Given the description of an element on the screen output the (x, y) to click on. 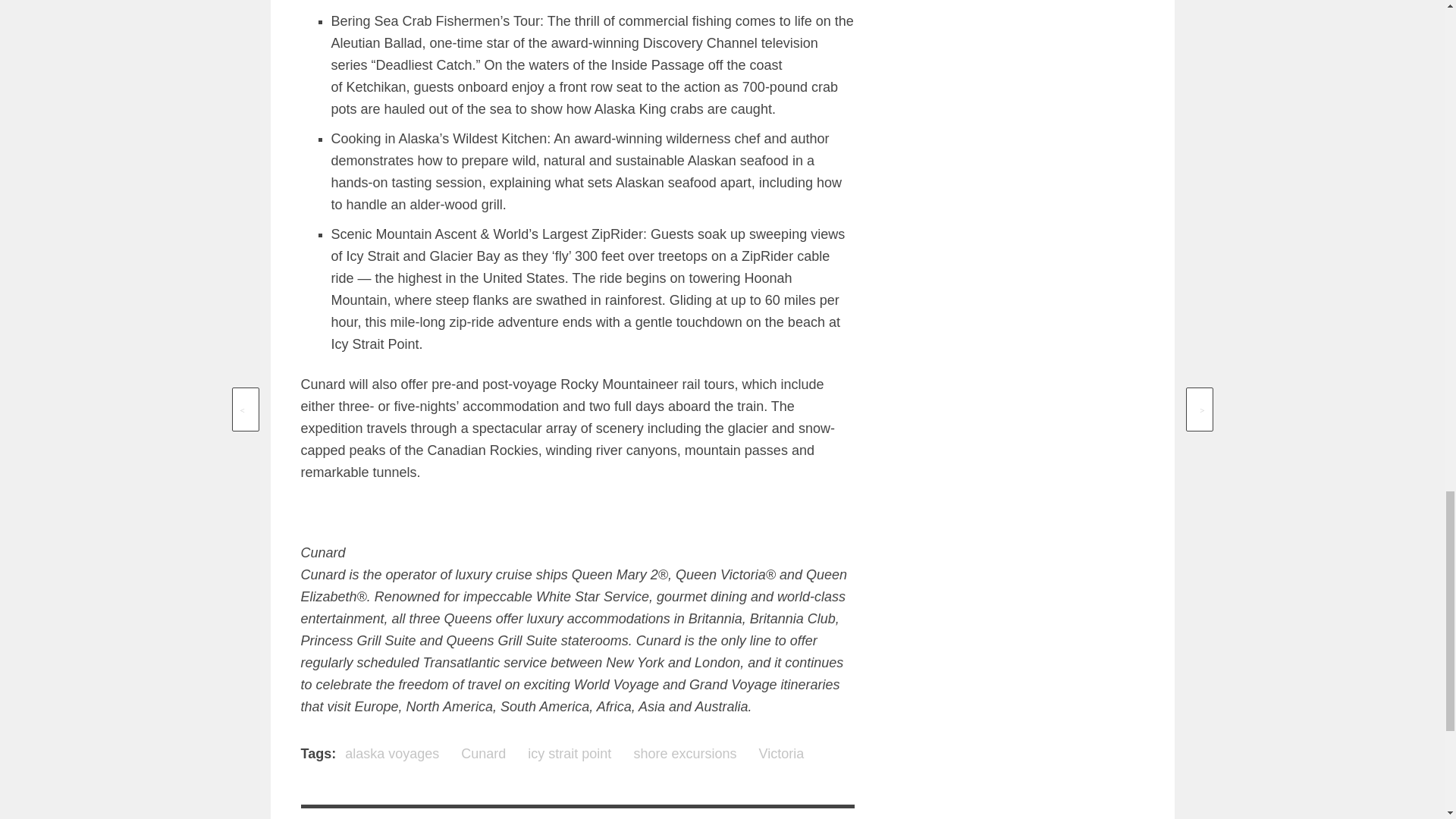
Victoria (780, 753)
shore excursions (684, 753)
Cunard (483, 753)
icy strait point (569, 753)
alaska voyages (392, 753)
